Given the description of an element on the screen output the (x, y) to click on. 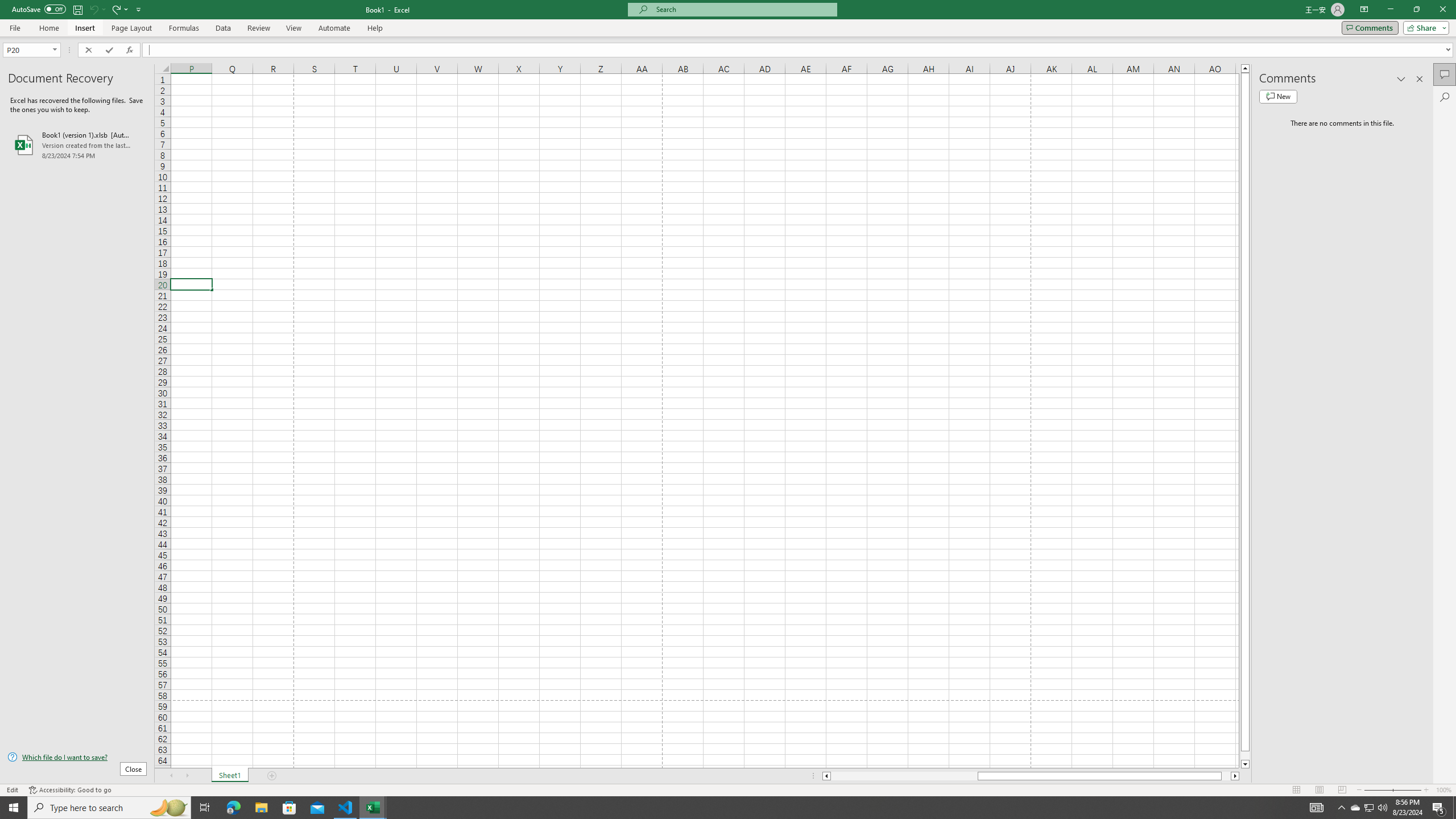
New comment (1278, 96)
